Given the description of an element on the screen output the (x, y) to click on. 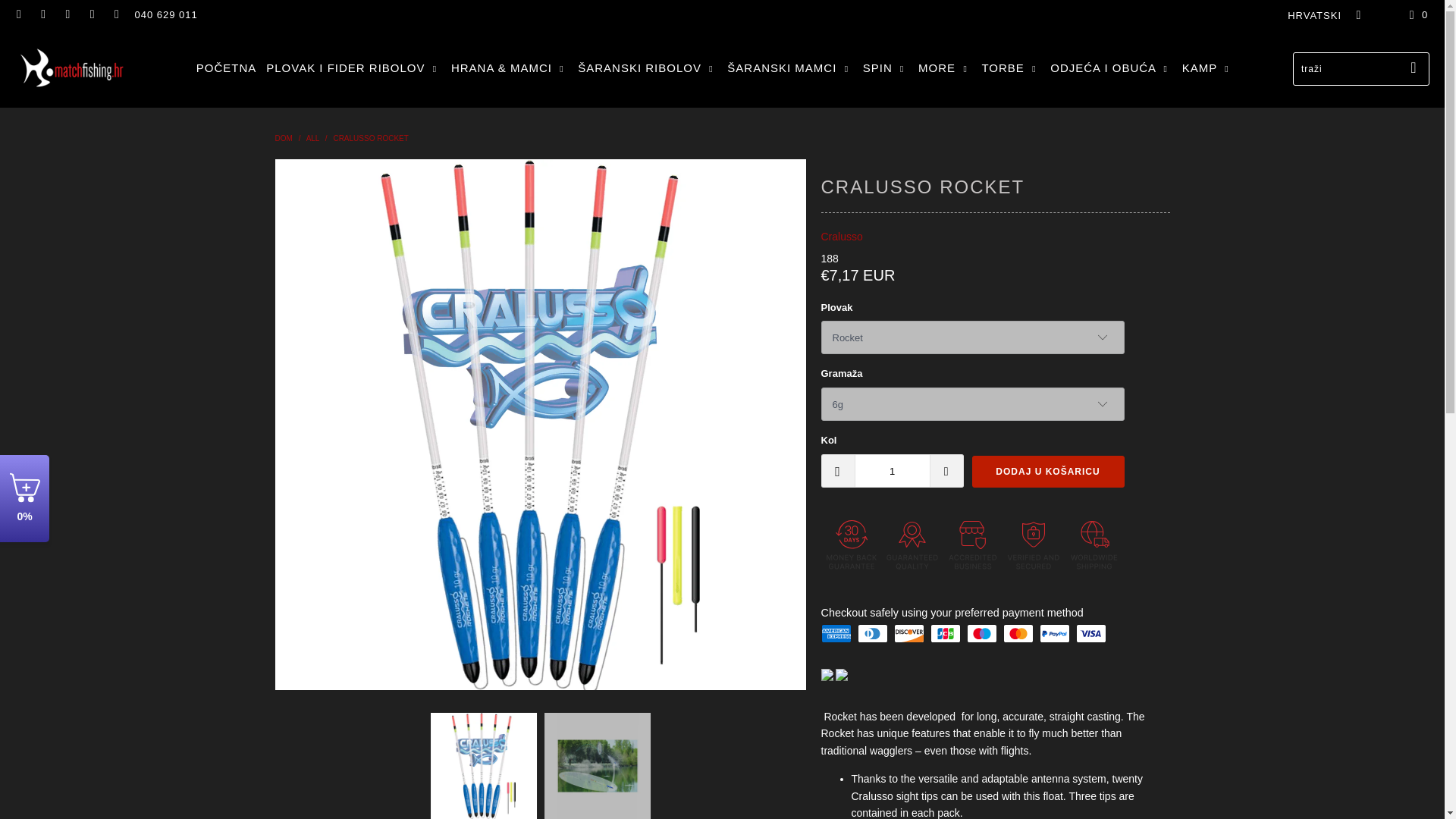
MatchFishing on Facebook (41, 14)
MatchFishing on Twitter (17, 14)
MatchFishing on Snapchat (91, 14)
MatchFishing (75, 68)
MatchFishing on Instagram (67, 14)
1 (891, 470)
MatchFishing (283, 138)
Email MatchFishing (115, 14)
All (311, 138)
